Given the description of an element on the screen output the (x, y) to click on. 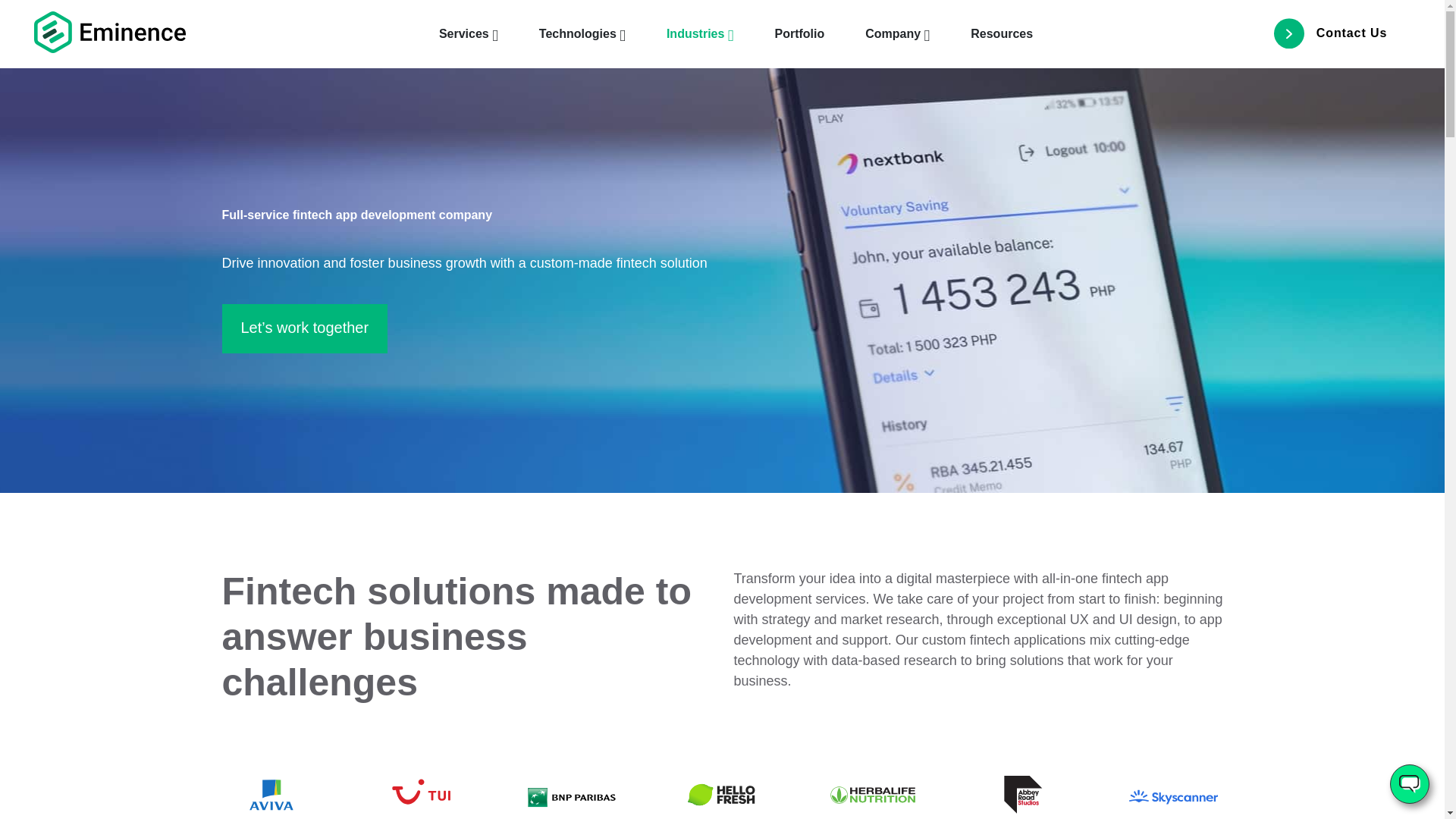
Services (468, 34)
Technologies (582, 34)
Industries (700, 34)
